Given the description of an element on the screen output the (x, y) to click on. 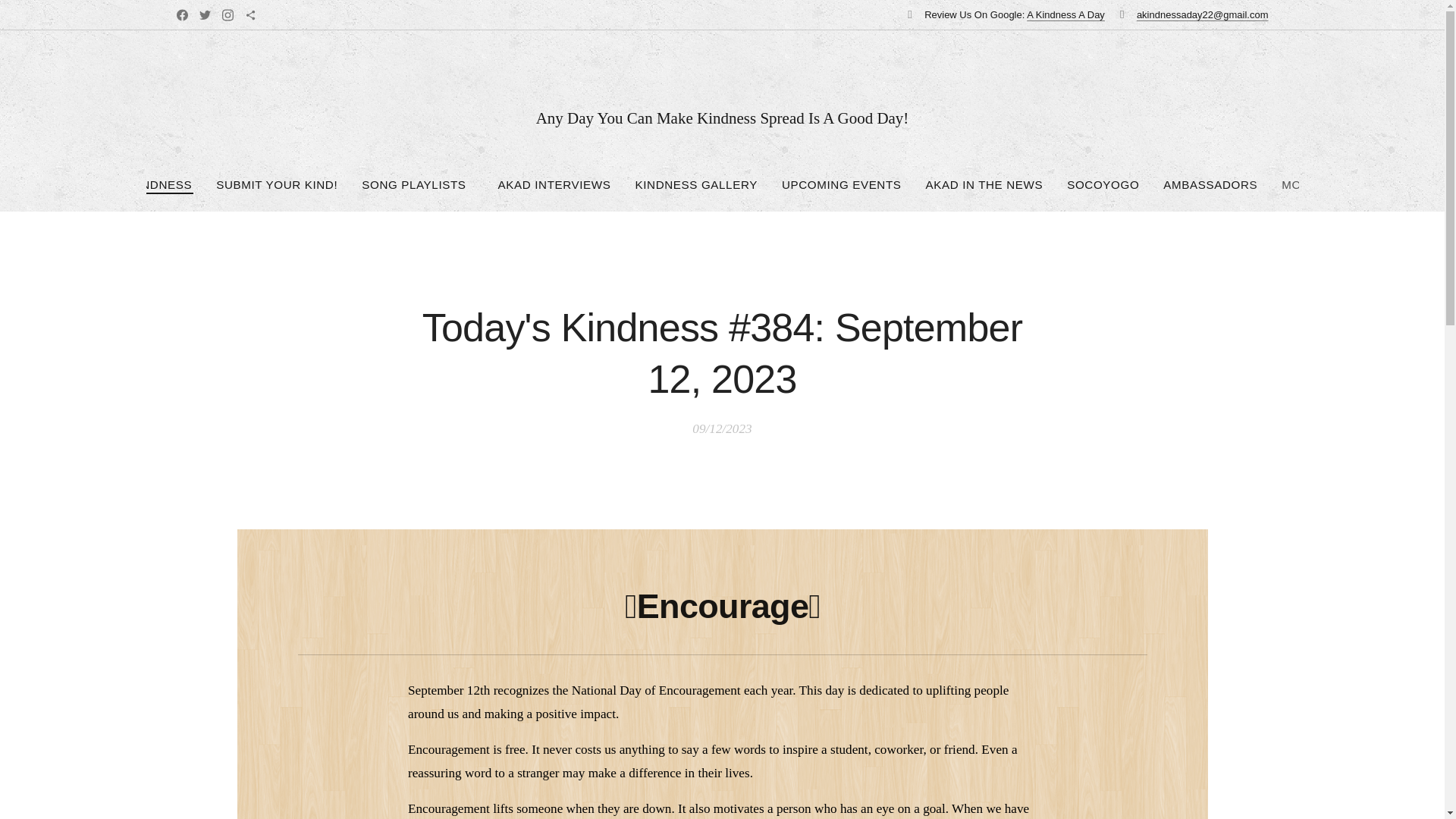
AMBASSADORS (1210, 184)
AKAD IN THE NEWS (984, 184)
A Kindness A Day (1065, 14)
Any Day You Can Make Kindness Spread Is A Good Day! (722, 103)
SOCOYOGO (1102, 184)
SONG PLAYLISTS (416, 184)
TODAY'S KINDNESS (133, 184)
MORE INFO (1315, 184)
AKAD INTERVIEWS (554, 184)
KINDNESS GALLERY (696, 184)
